Given the description of an element on the screen output the (x, y) to click on. 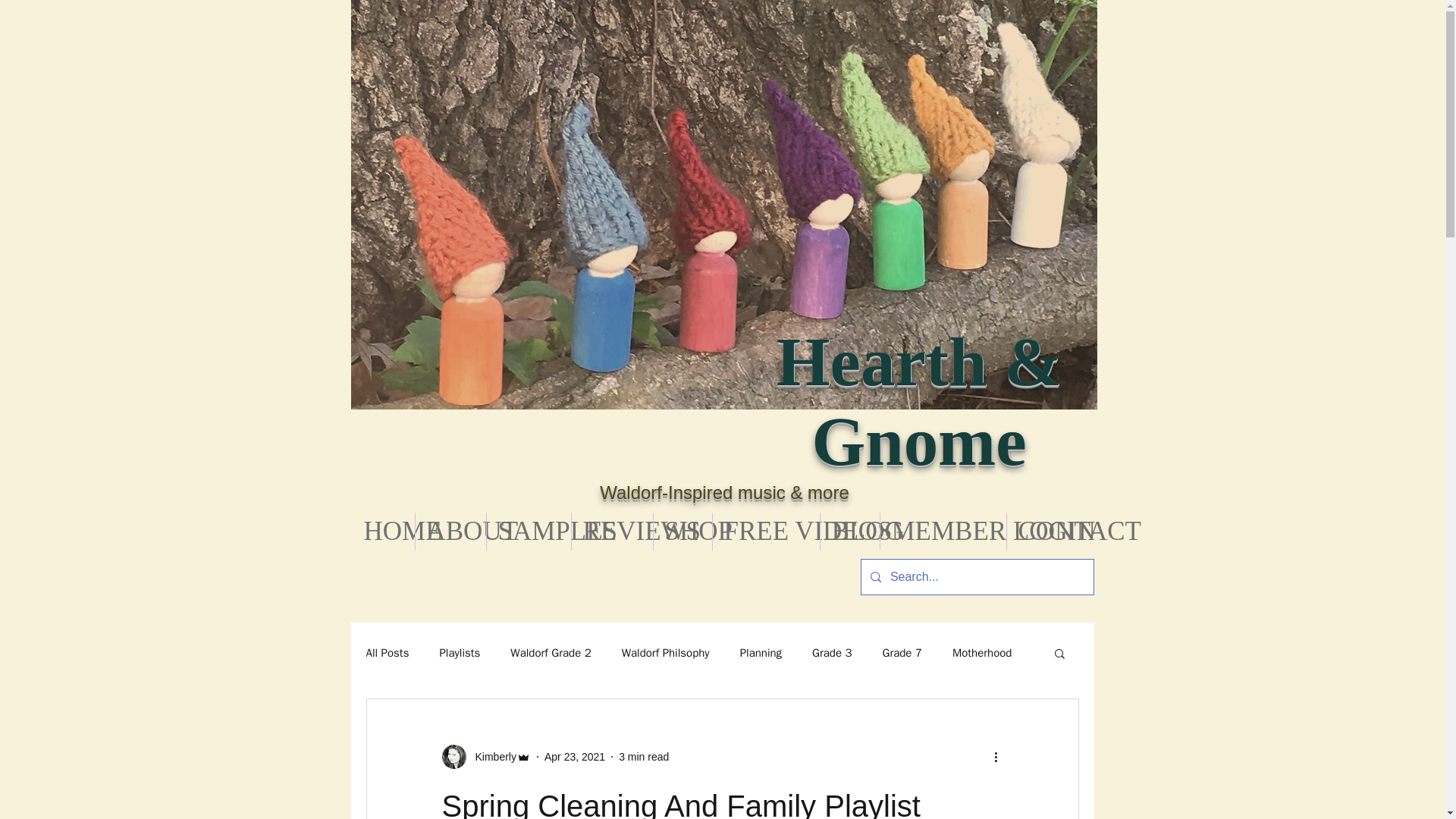
REVIEWS (612, 531)
HOME (382, 531)
Playlists (459, 653)
SHOP (682, 531)
Grade 3 (831, 653)
BLOG (850, 531)
3 min read (643, 756)
ABOUT (450, 531)
All Posts (387, 653)
Motherhood (981, 653)
